Given the description of an element on the screen output the (x, y) to click on. 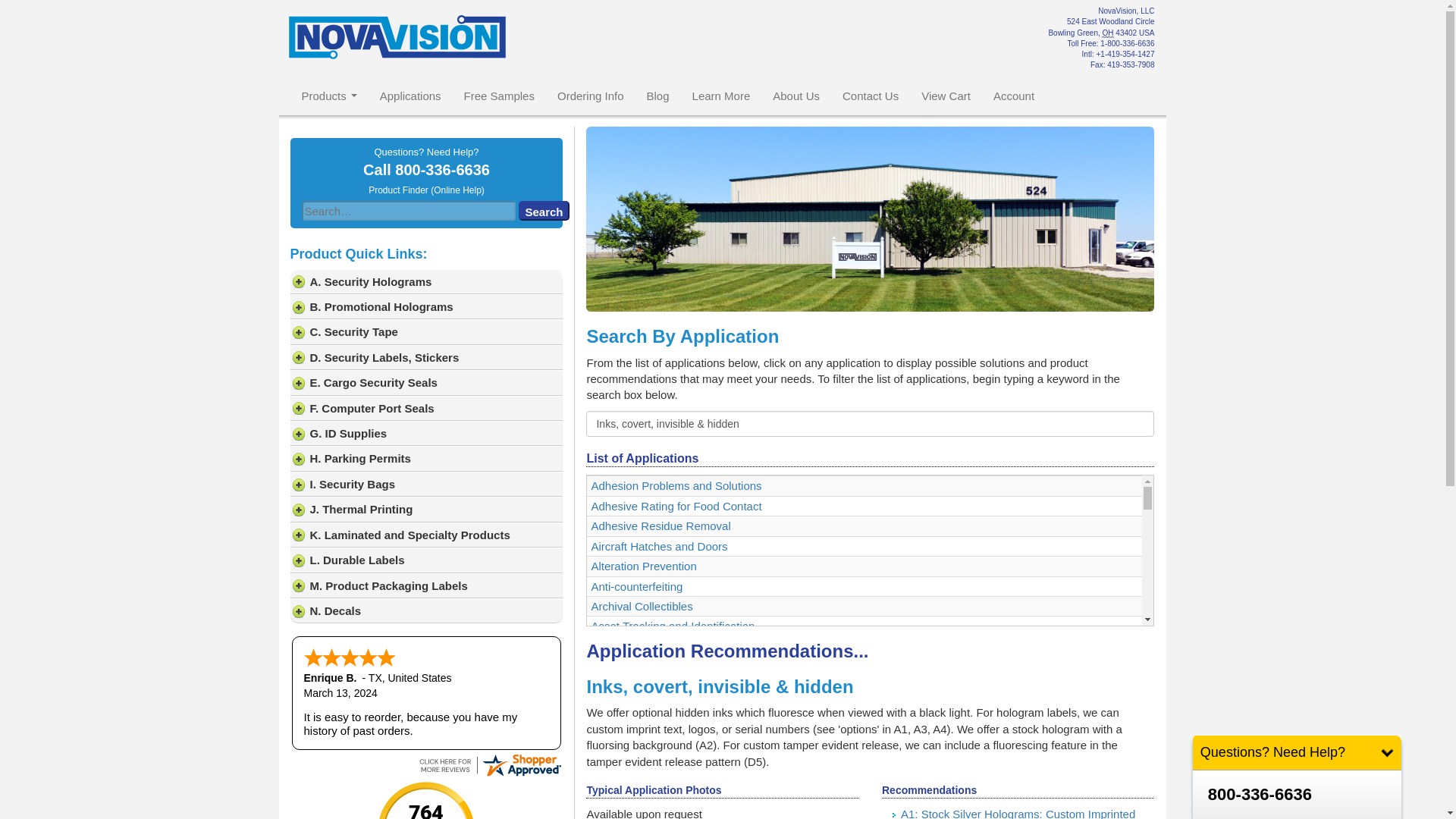
Free product samples for testing (499, 95)
Search by Application... (870, 423)
NovaVision Ordering Info (590, 95)
Search Product Finder (426, 190)
Contact NovaVision (870, 95)
Products (328, 95)
Holograms for anti-counterfeiting (721, 95)
Account: View Order History, Reorder (1013, 95)
Application Search (410, 95)
1-800-336-6636 (1127, 43)
About Our Company (796, 95)
Customer Reviews (657, 95)
Ohio (1107, 32)
NovaVision Home (328, 95)
View Your Shopping Cart, Checkout (945, 95)
